Given the description of an element on the screen output the (x, y) to click on. 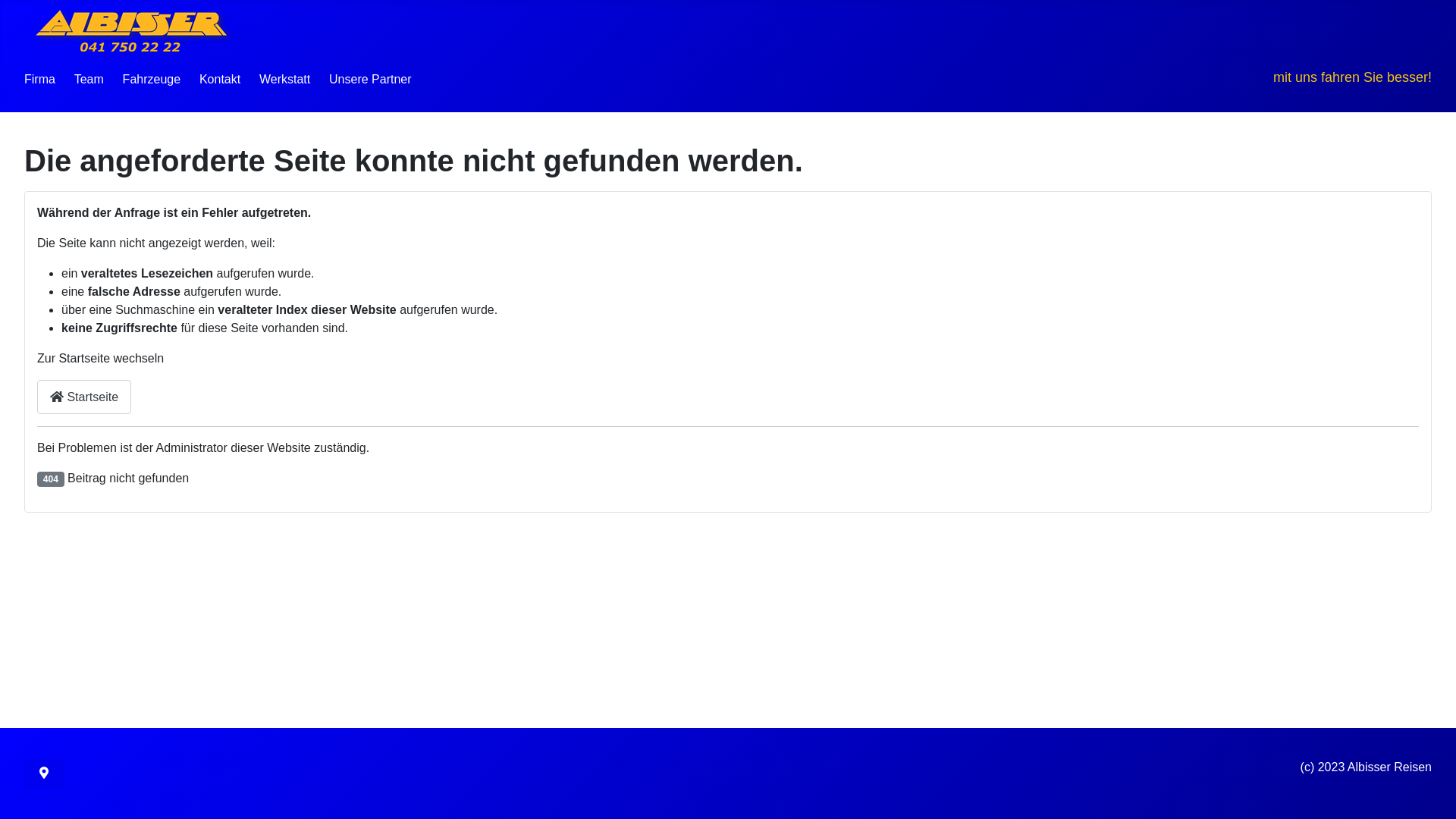
Unsere Partner Element type: text (370, 78)
Team Element type: text (88, 78)
Fahrzeuge Element type: text (151, 78)
Firma Element type: text (39, 78)
Kontakt Element type: text (219, 78)
Werkstatt Element type: text (284, 78)
Startseite Element type: text (84, 396)
